Given the description of an element on the screen output the (x, y) to click on. 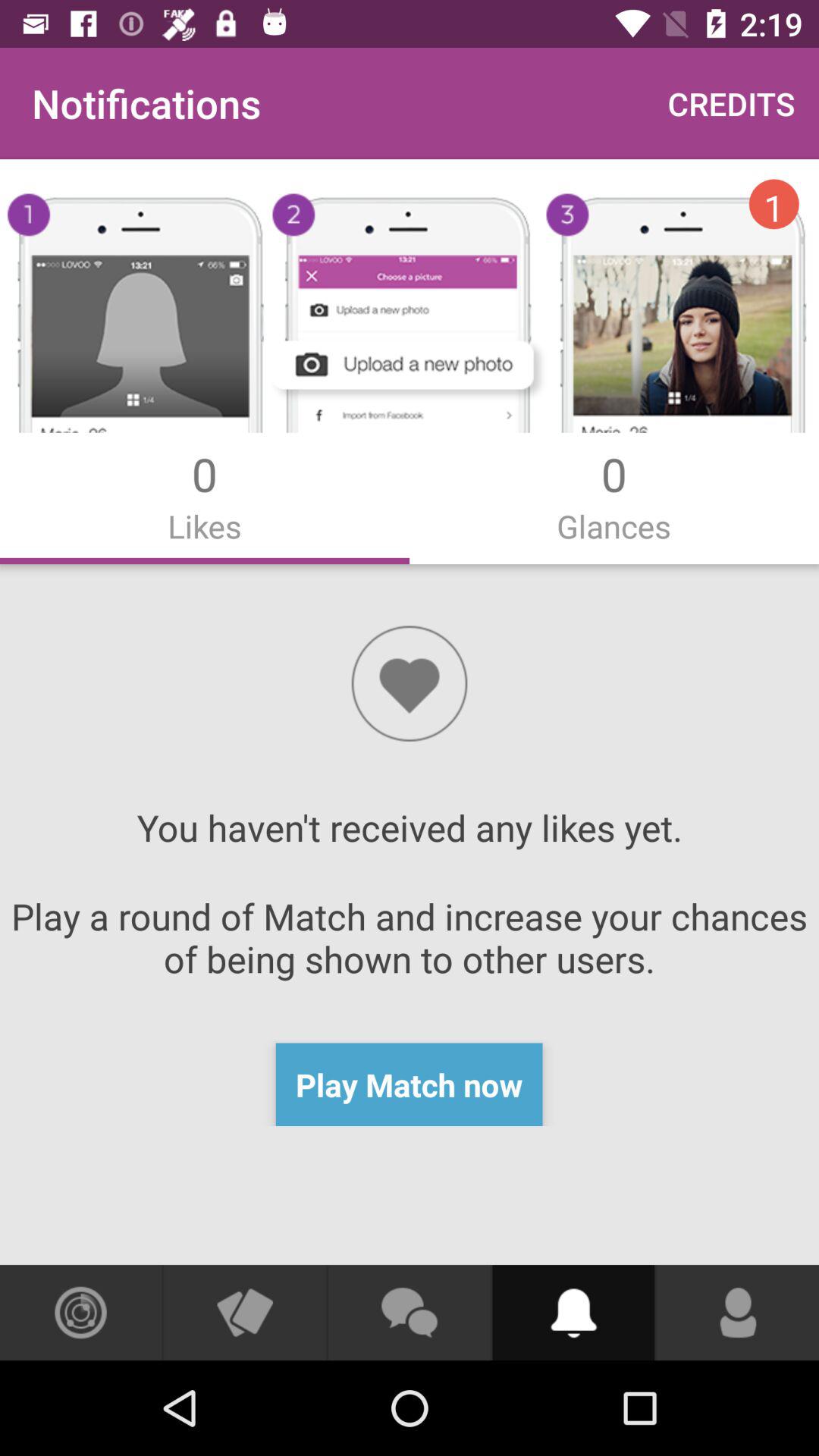
open chat (409, 1312)
